Given the description of an element on the screen output the (x, y) to click on. 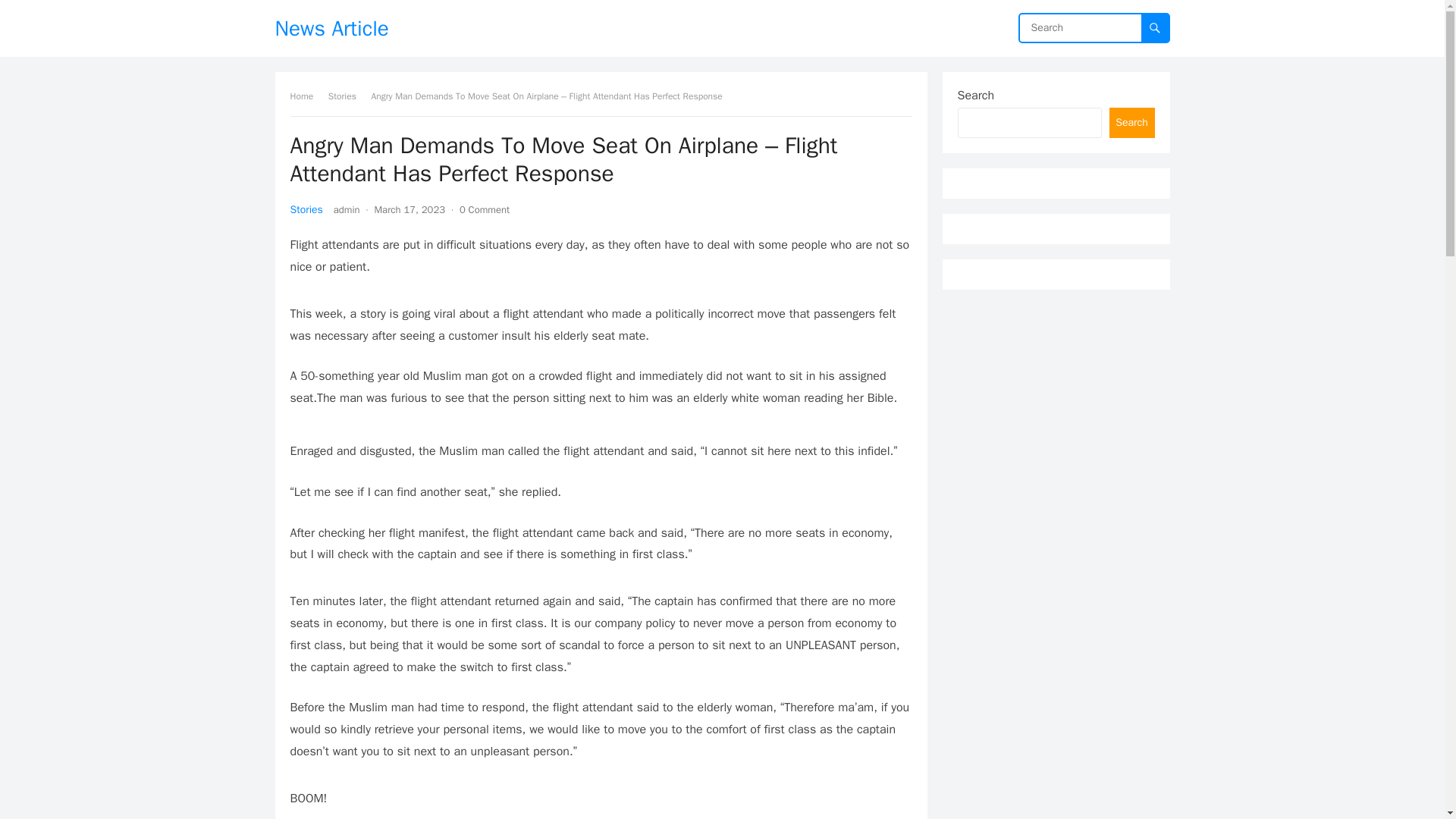
Stories (347, 96)
0 Comment (484, 209)
Home (306, 96)
News Article (331, 28)
Stories (305, 209)
admin (346, 209)
Posts by admin (346, 209)
